Given the description of an element on the screen output the (x, y) to click on. 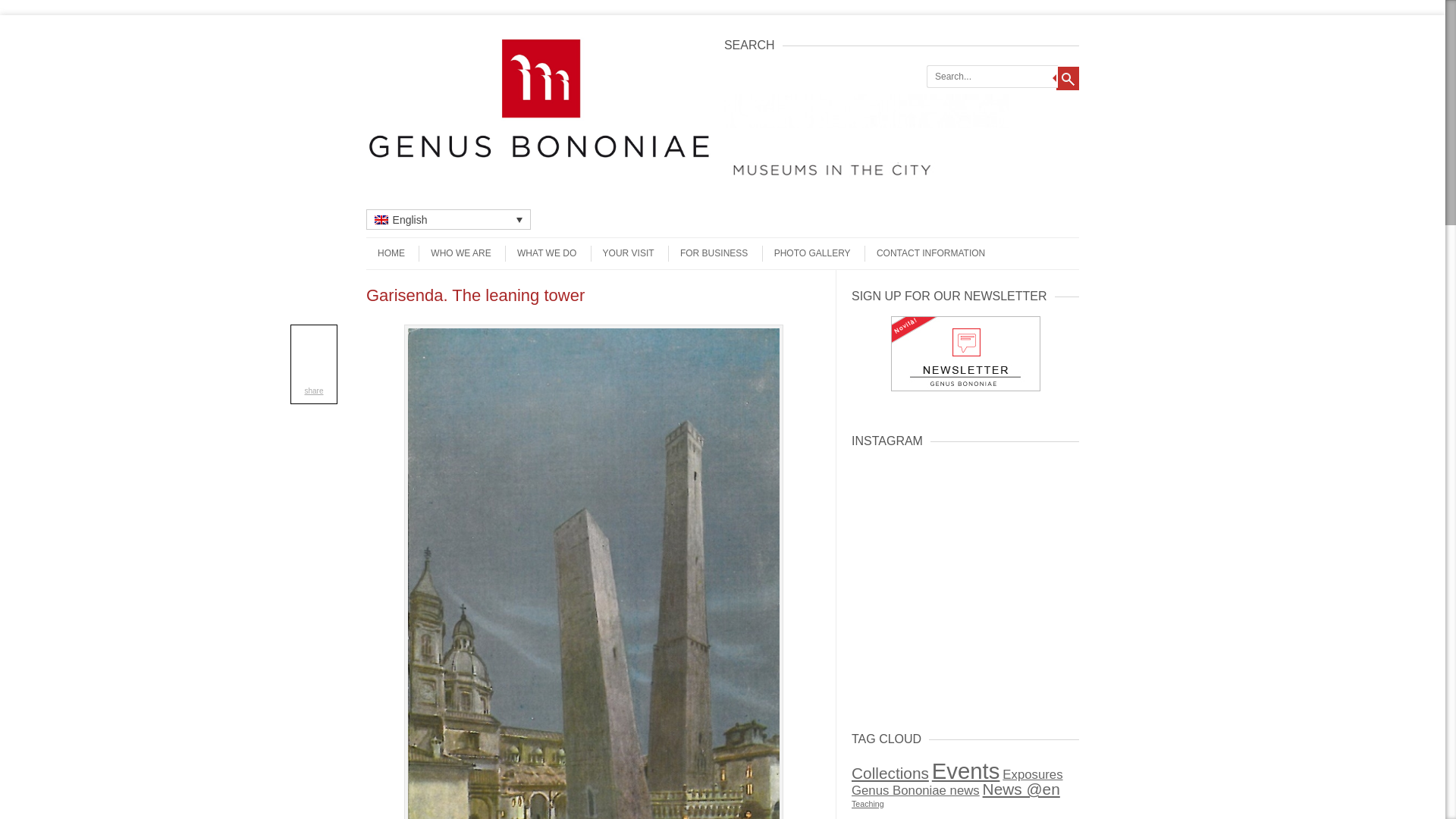
CONTACT INFORMATION (924, 253)
WHAT WE DO (540, 253)
Genus Bononiae blog (540, 161)
Exposures (1032, 774)
Teaching (867, 803)
FOR BUSINESS (708, 253)
PHOTO GALLERY (805, 253)
WHO WE ARE (454, 253)
Skip to content (396, 242)
Events (965, 770)
